Given the description of an element on the screen output the (x, y) to click on. 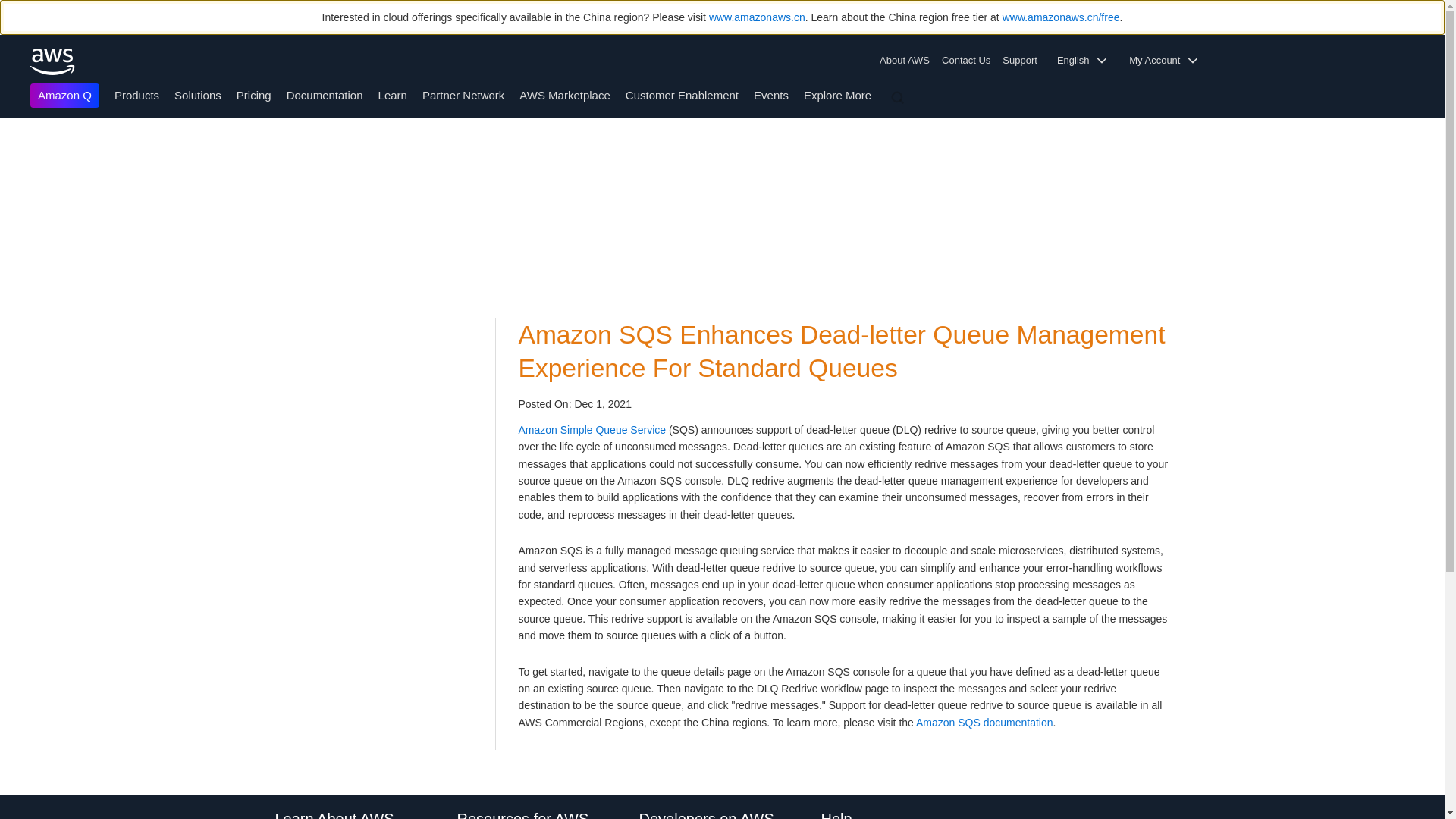
Click here to return to Amazon Web Services homepage (52, 61)
About AWS (907, 60)
AWS Marketplace (564, 94)
Products (136, 94)
Customer Enablement (682, 94)
English   (1086, 60)
Skip to main content (7, 146)
Pricing (252, 94)
www.amazonaws.cn (757, 17)
Events (771, 94)
Solutions (197, 94)
Amazon Q (64, 95)
Explore More (836, 94)
Partner Network (462, 94)
Support (1023, 60)
